Given the description of an element on the screen output the (x, y) to click on. 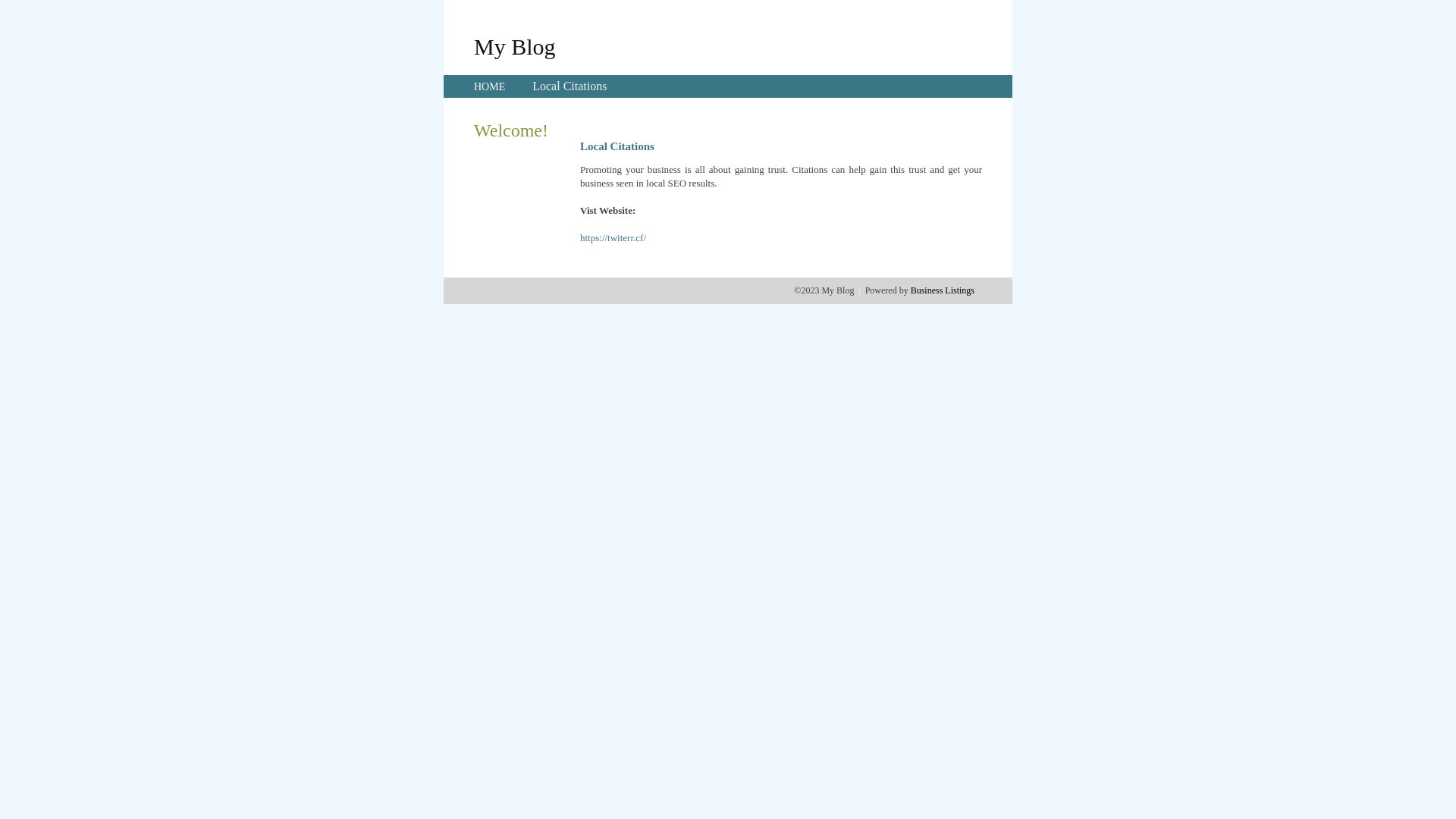
Business Listings Element type: text (942, 290)
HOME Element type: text (489, 86)
https://twiterr.cf/ Element type: text (613, 237)
My Blog Element type: text (514, 46)
Local Citations Element type: text (569, 85)
